Given the description of an element on the screen output the (x, y) to click on. 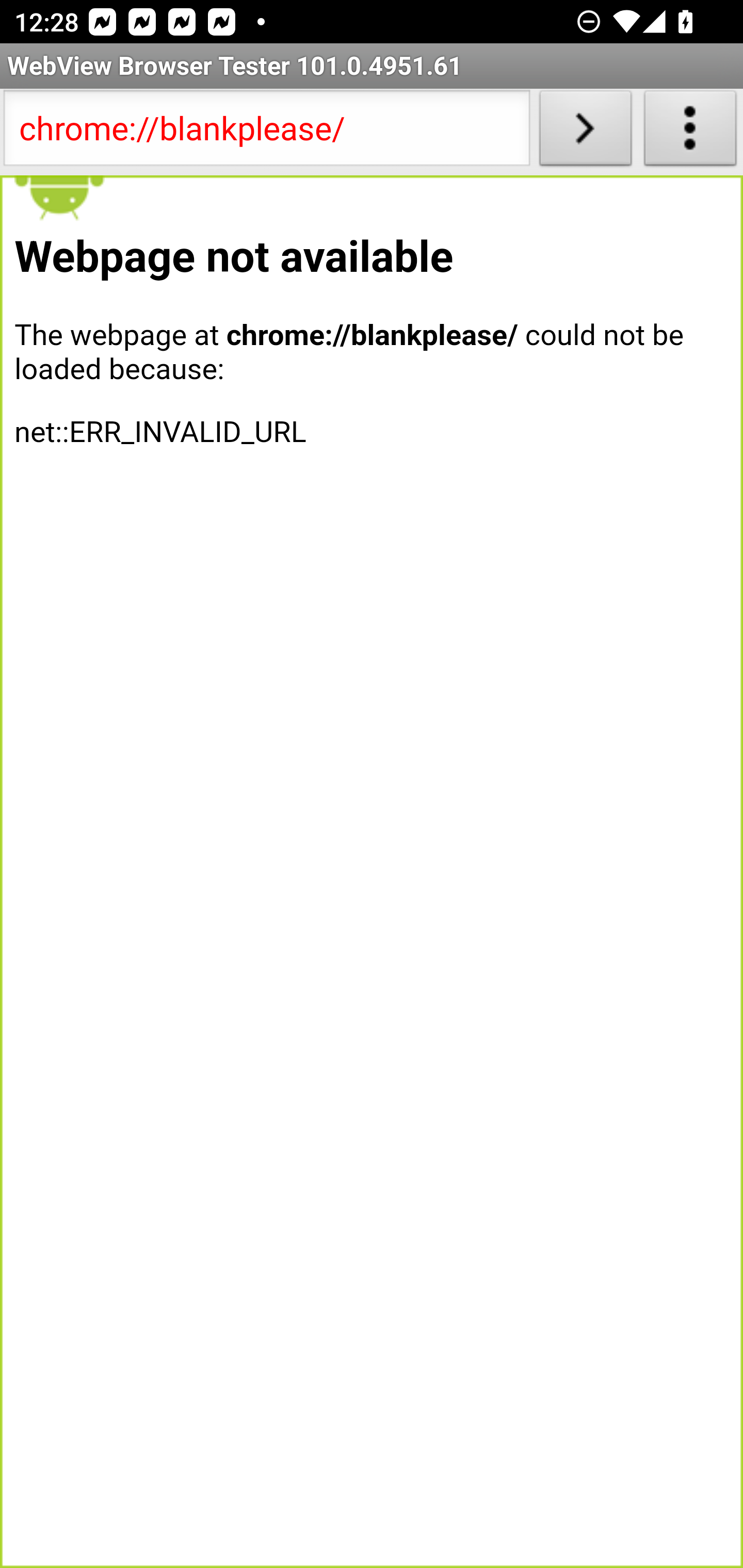
chrome://blankplease/ (266, 132)
Load URL (585, 132)
About WebView (690, 132)
